Given the description of an element on the screen output the (x, y) to click on. 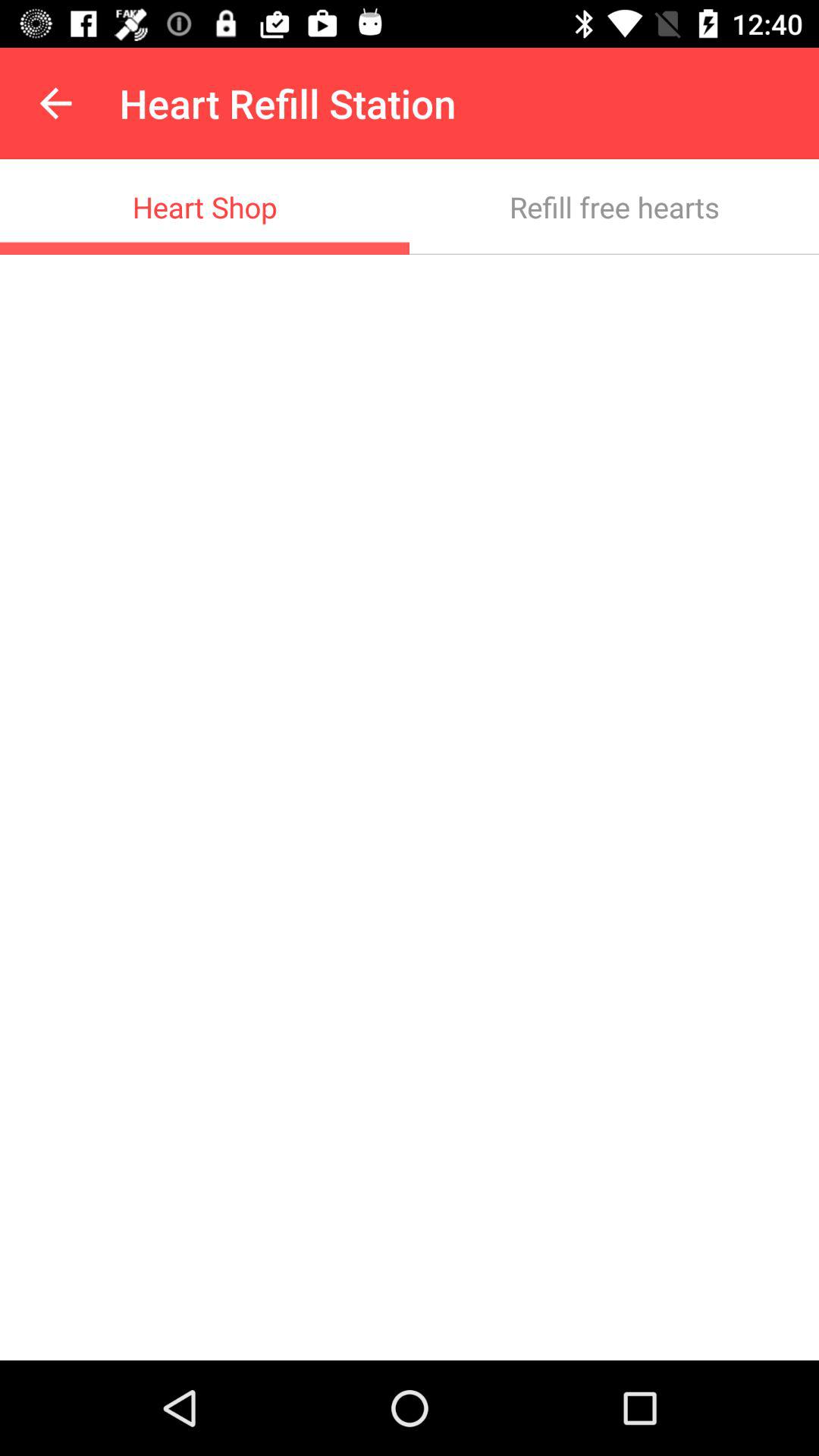
click item next to heart refill station app (55, 103)
